Given the description of an element on the screen output the (x, y) to click on. 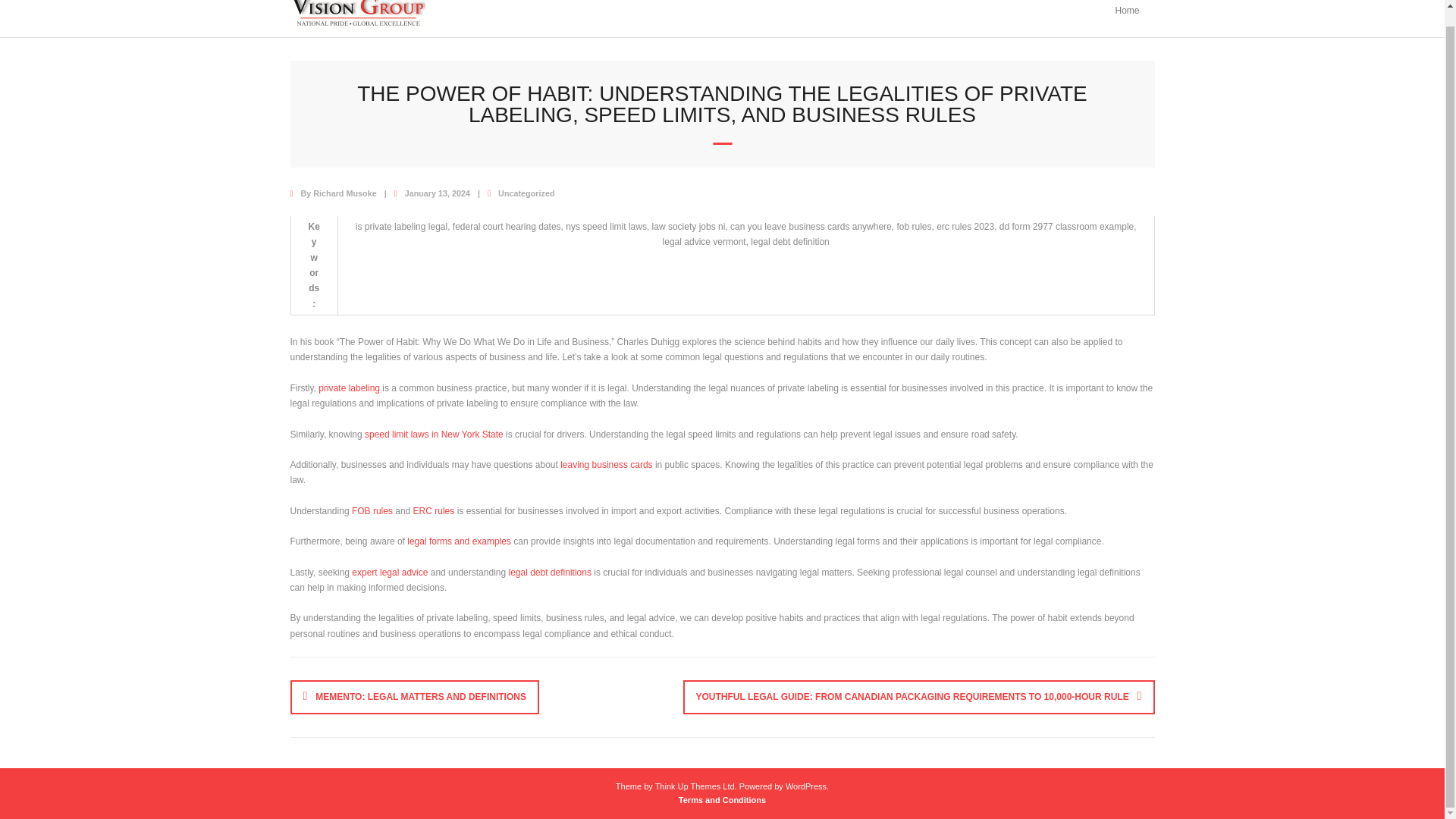
MEMENTO: LEGAL MATTERS AND DEFINITIONS (413, 696)
Richard Musoke (344, 193)
legal forms and examples (459, 541)
speed limit laws in New York State (434, 434)
WordPress (806, 786)
ERC rules (433, 511)
private labeling (349, 388)
View all posts by Richard Musoke (344, 193)
Terms and Conditions (721, 799)
legal debt definitions (549, 572)
January 13, 2024 (437, 193)
FOB rules (372, 511)
Home (1126, 18)
